Given the description of an element on the screen output the (x, y) to click on. 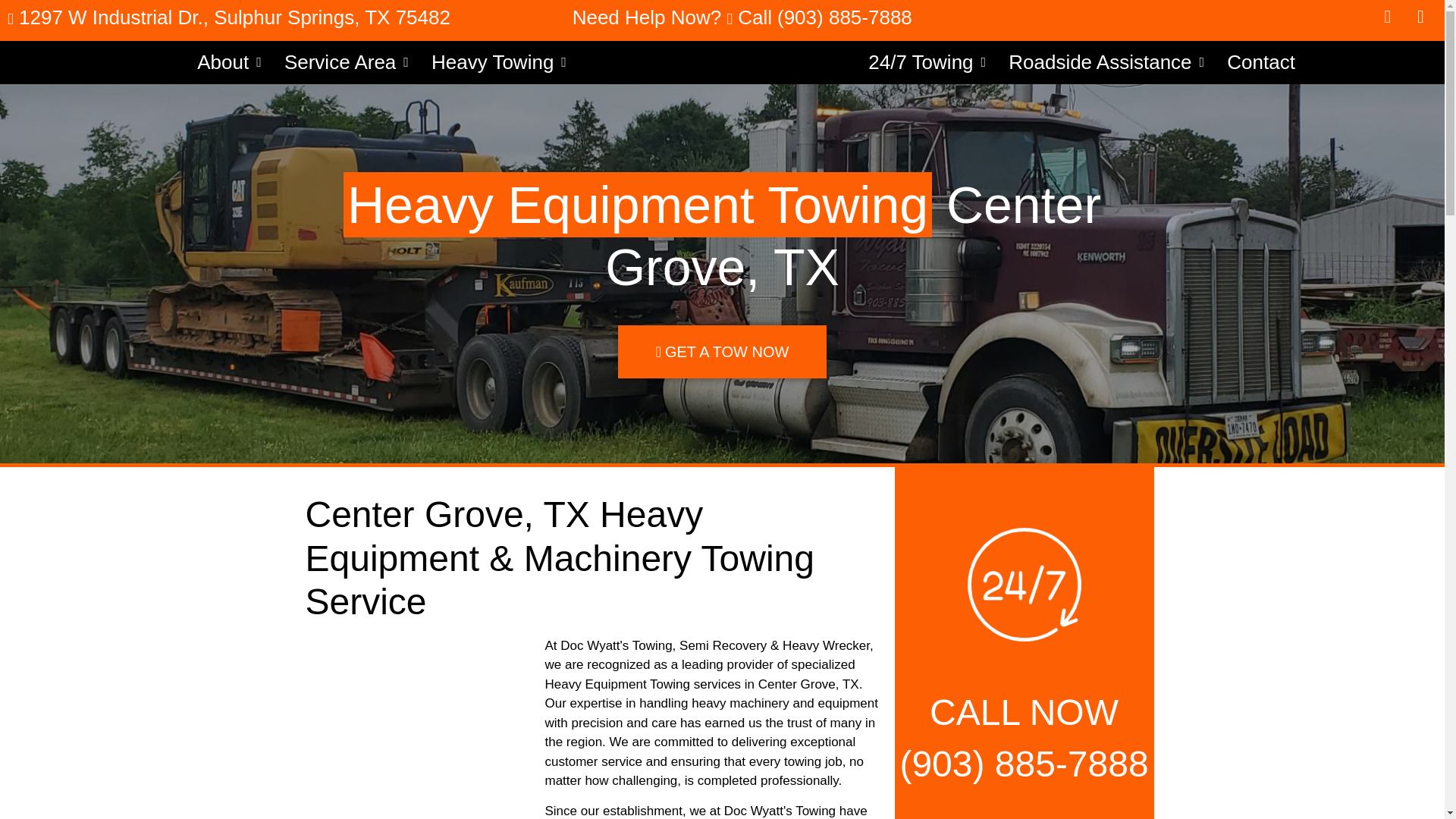
Heavy Towing (499, 62)
About (229, 62)
Need Help Now? Call (722, 17)
Service Area (346, 62)
